Given the description of an element on the screen output the (x, y) to click on. 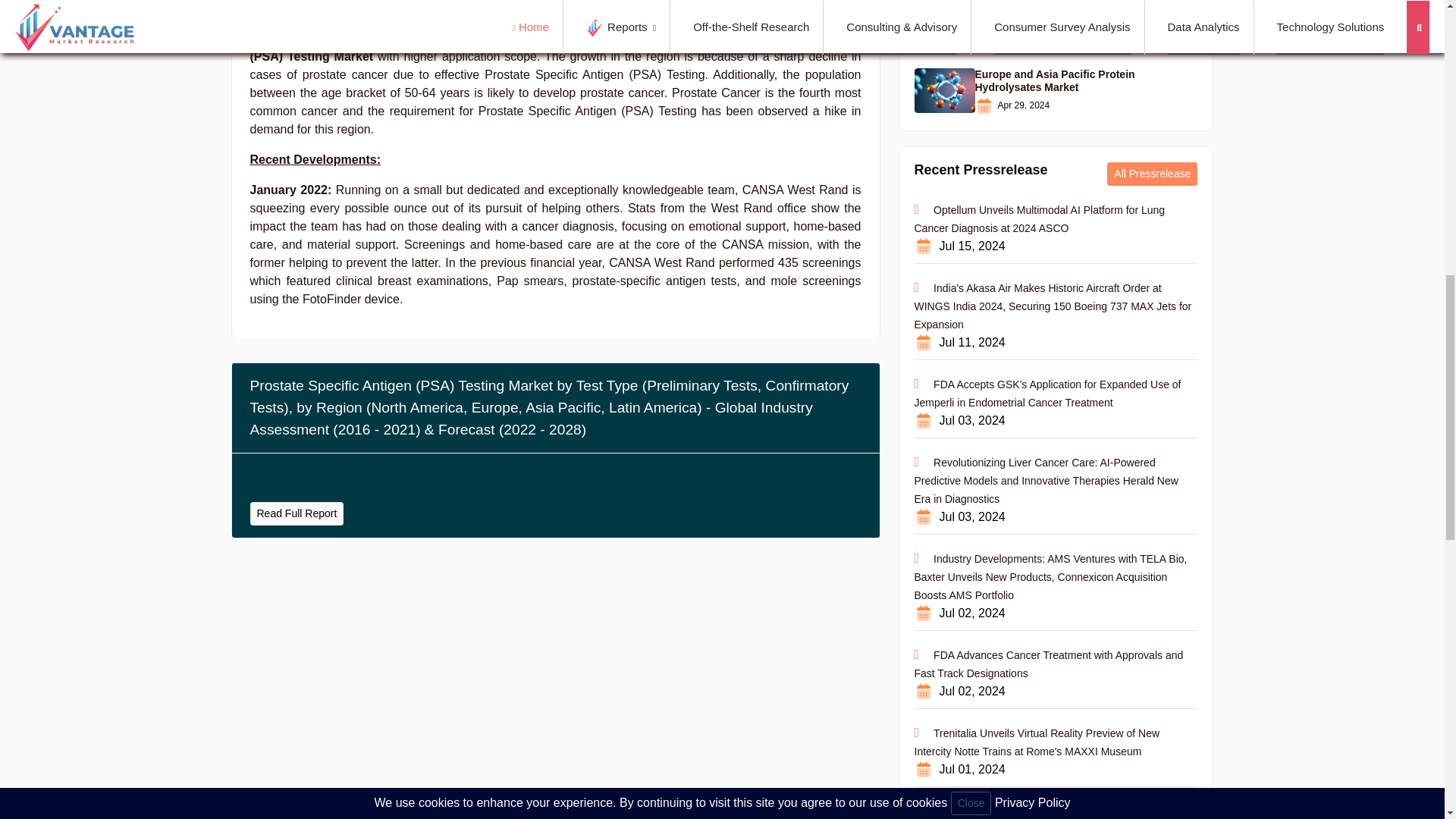
Read Full Report (296, 513)
